Given the description of an element on the screen output the (x, y) to click on. 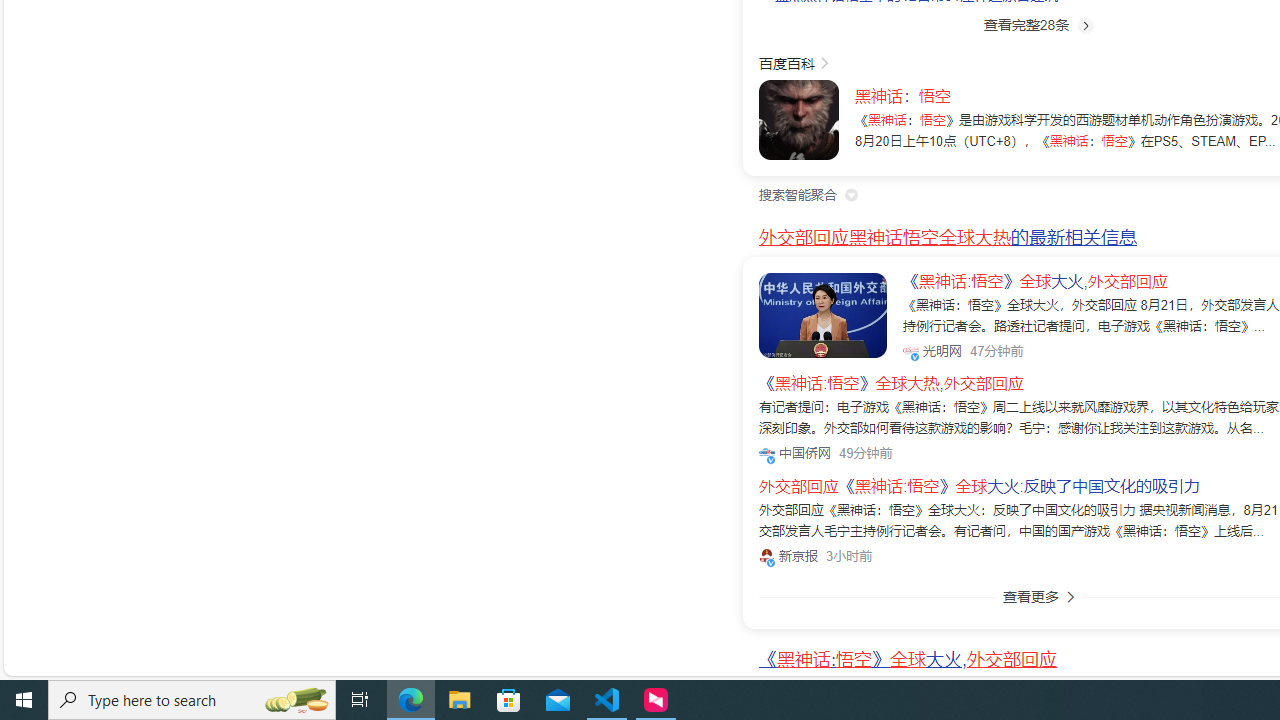
Class: c-img c-img-radius-large (823, 314)
